Given the description of an element on the screen output the (x, y) to click on. 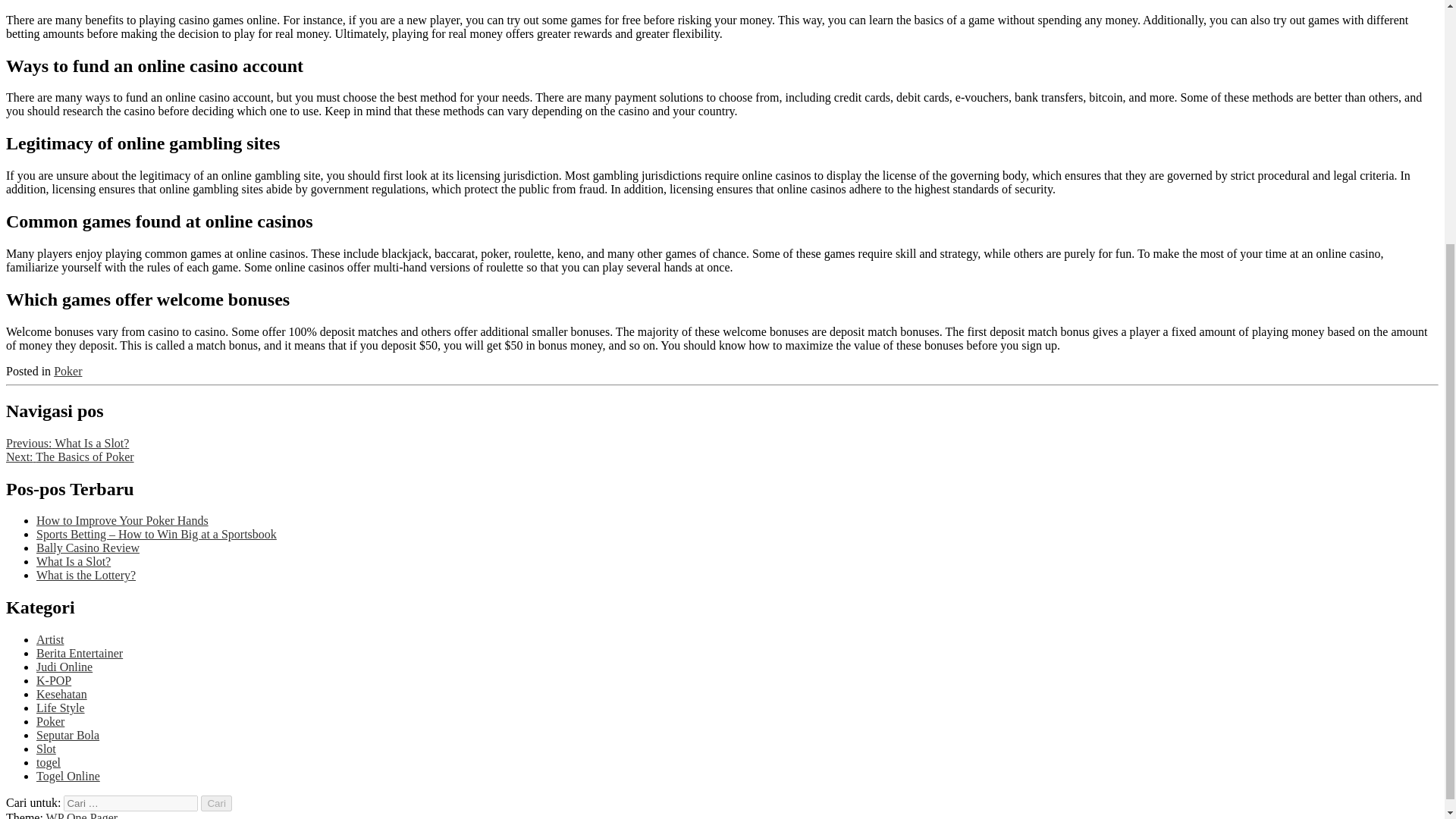
Cari (215, 803)
Seputar Bola (67, 735)
What is the Lottery? (85, 574)
Cari (215, 803)
Poker (67, 370)
K-POP (53, 680)
Cari (215, 803)
Berita Entertainer (79, 653)
Next: The Basics of Poker (69, 456)
togel (48, 762)
